Given the description of an element on the screen output the (x, y) to click on. 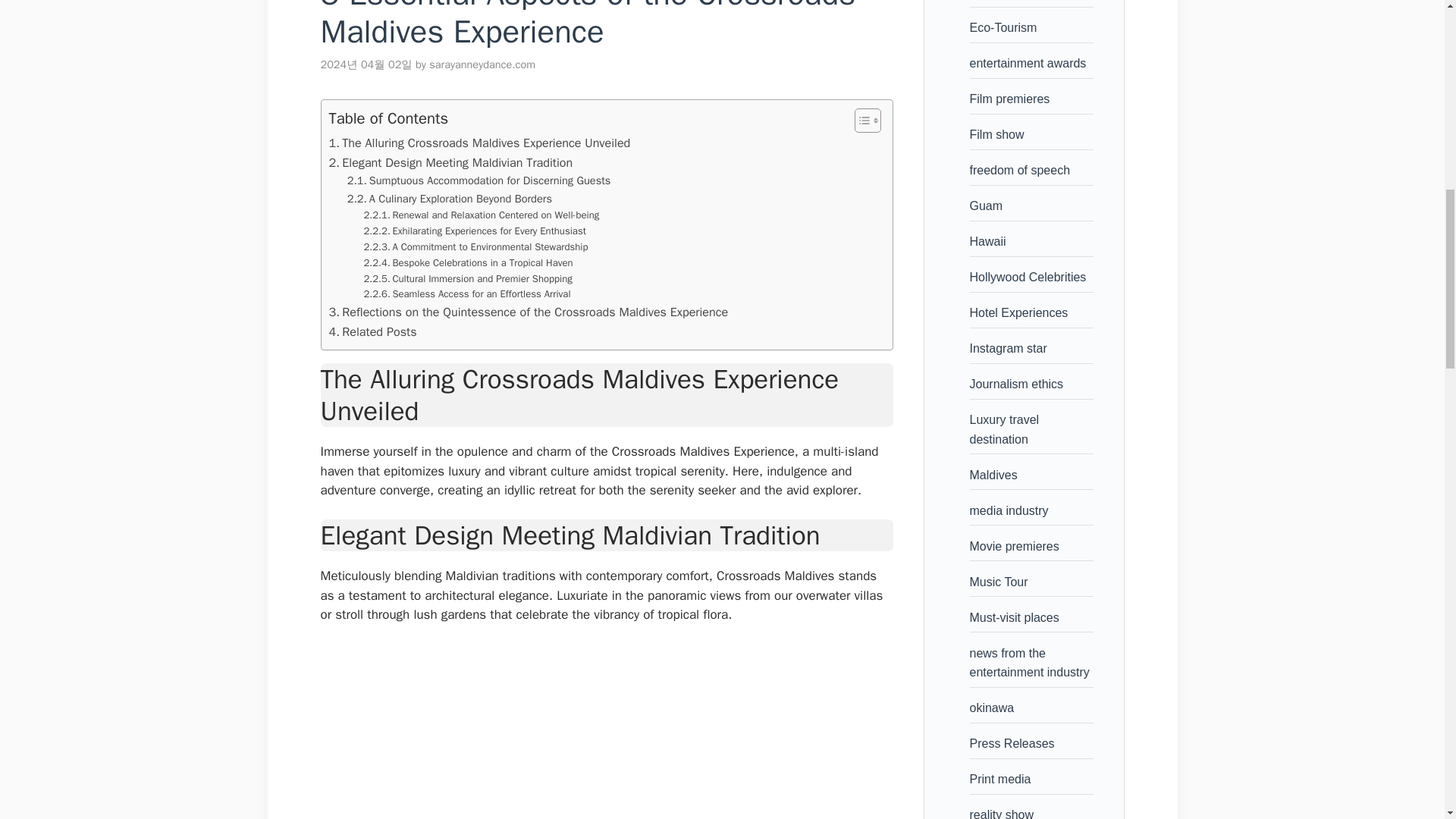
Cultural Immersion and Premier Shopping (468, 279)
sarayanneydance.com (482, 64)
Renewal and Relaxation Centered on Well-being (481, 215)
Bespoke Celebrations in a Tropical Haven (468, 263)
Seamless Access for an Effortless Arrival (467, 294)
The Alluring Crossroads Maldives Experience Unveiled (479, 143)
Sumptuous Accommodation for Discerning Guests (479, 180)
A Commitment to Environmental Stewardship (476, 247)
A Commitment to Environmental Stewardship (476, 247)
Renewal and Relaxation Centered on Well-being (481, 215)
Elegant Design Meeting Maldivian Tradition (451, 162)
Exhilarating Experiences for Every Enthusiast (475, 231)
Sumptuous Accommodation for Discerning Guests (479, 180)
A Culinary Exploration Beyond Borders (449, 199)
Elegant Design Meeting Maldivian Tradition (451, 162)
